Given the description of an element on the screen output the (x, y) to click on. 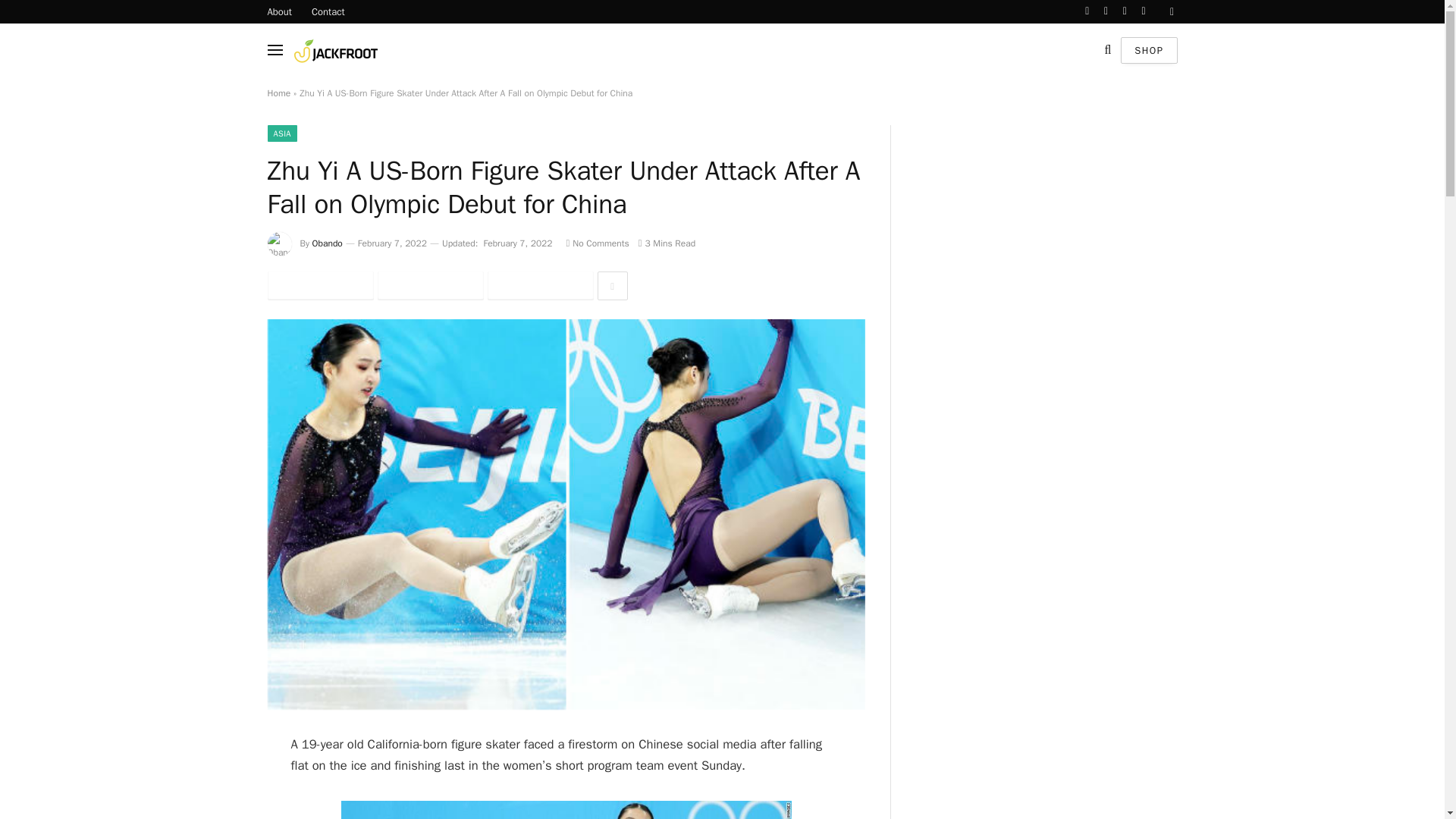
Twitter (430, 285)
Contact (328, 11)
Show More Social Sharing (611, 285)
Jackfroot (346, 50)
Obando (327, 243)
Share on Twitter (430, 285)
Share on Facebook (319, 285)
Facebook (319, 285)
Pinterest (539, 285)
